Given the description of an element on the screen output the (x, y) to click on. 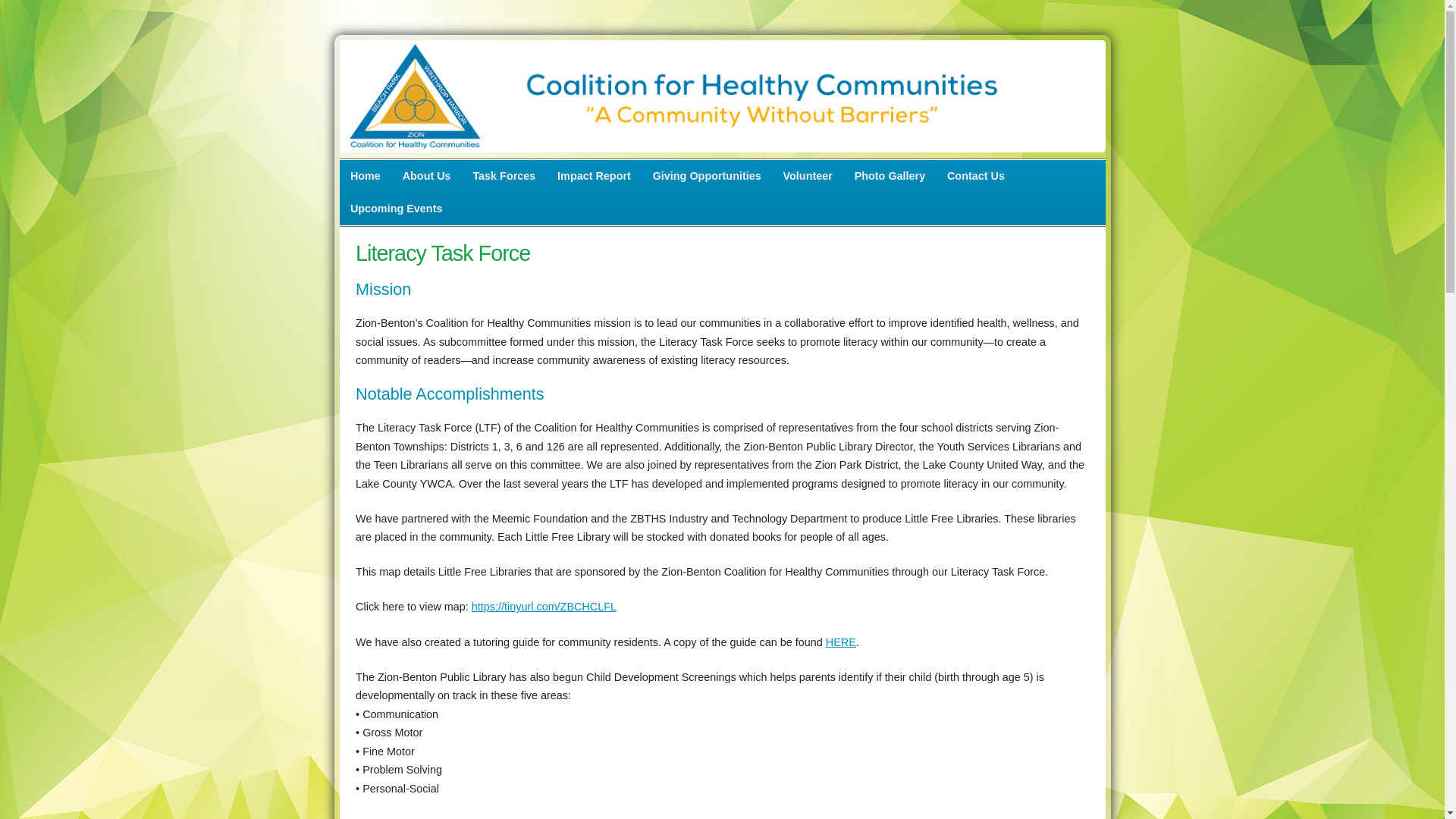
Contact Us (976, 174)
Task Forces (504, 174)
Giving Opportunities (706, 174)
Upcoming Events (395, 208)
Photo Gallery (889, 174)
HERE (840, 642)
Impact Report (594, 174)
About Us (426, 174)
Home (365, 174)
Volunteer (807, 174)
